Given the description of an element on the screen output the (x, y) to click on. 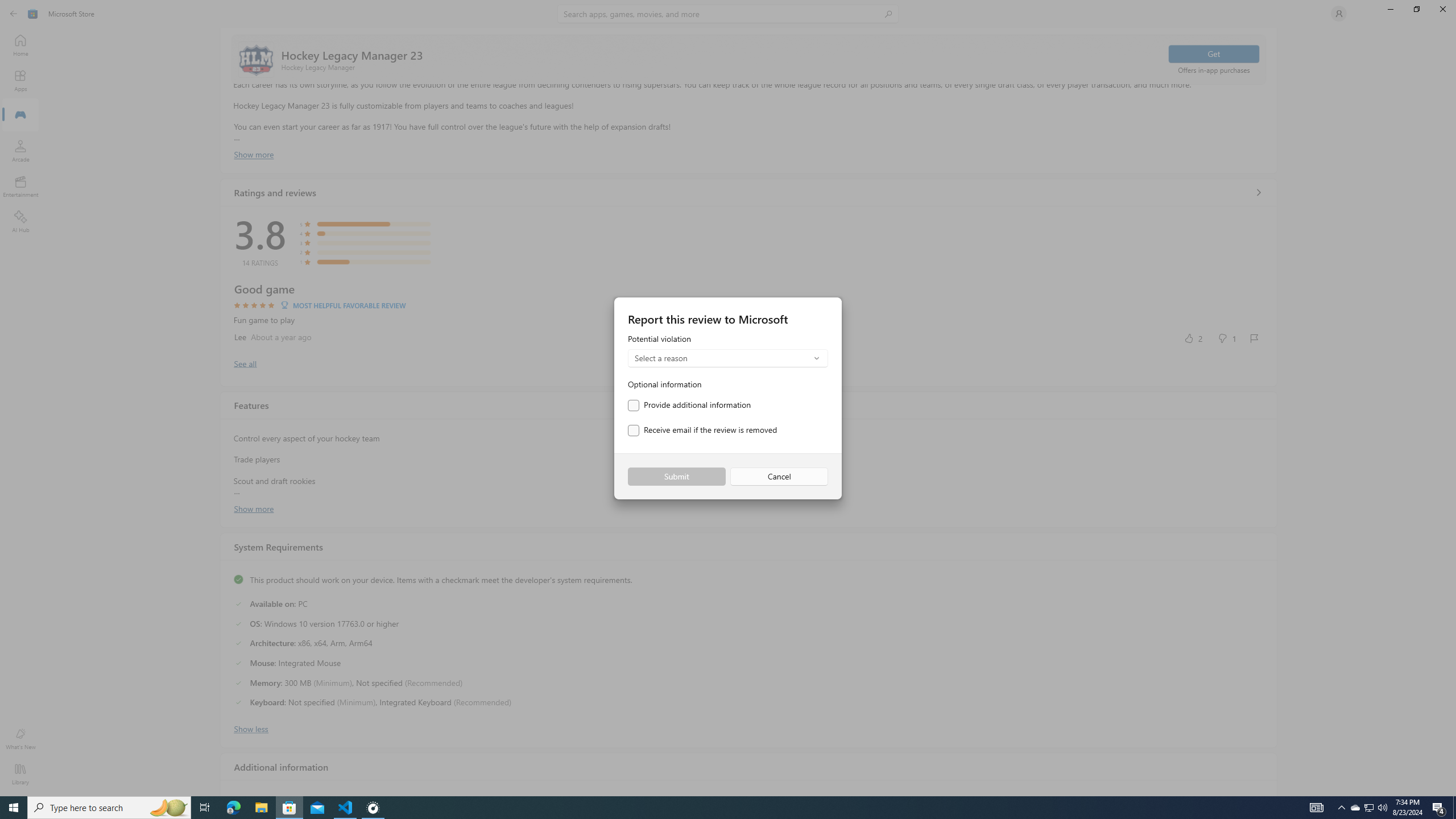
Close Microsoft Store (1442, 9)
Arcade (20, 150)
Show all ratings and reviews (1258, 192)
Minimize Microsoft Store (1390, 9)
Review by Lee. Rated 5 out of five stars. Good game. (748, 313)
No, this was not helpful. 1 votes. (1226, 338)
Get (1213, 53)
Potential violation (727, 351)
Restore Microsoft Store (1416, 9)
Show all ratings and reviews (244, 362)
Gaming (20, 115)
AutomationID: NavigationControl (728, 398)
Scroll to top (748, 59)
Show more (253, 507)
Report review (1253, 338)
